Given the description of an element on the screen output the (x, y) to click on. 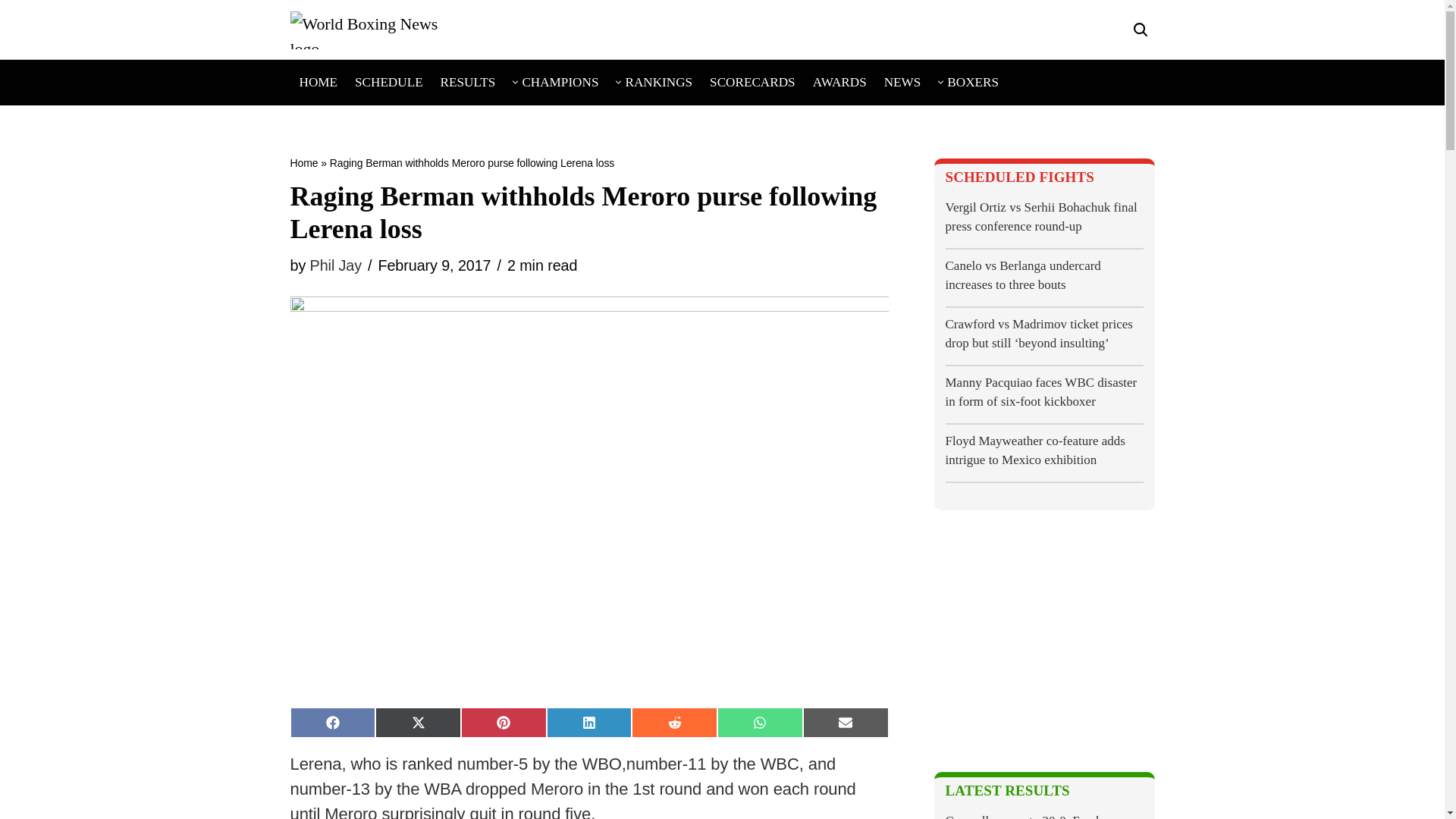
AWARDS (839, 81)
RESULTS (468, 81)
NEWS (902, 81)
Skip to content (11, 31)
SCHEDULE (389, 81)
BOXERS (972, 81)
SCORECARDS (752, 81)
RANKINGS (658, 81)
HOME (317, 81)
CHAMPIONS (559, 81)
